Given the description of an element on the screen output the (x, y) to click on. 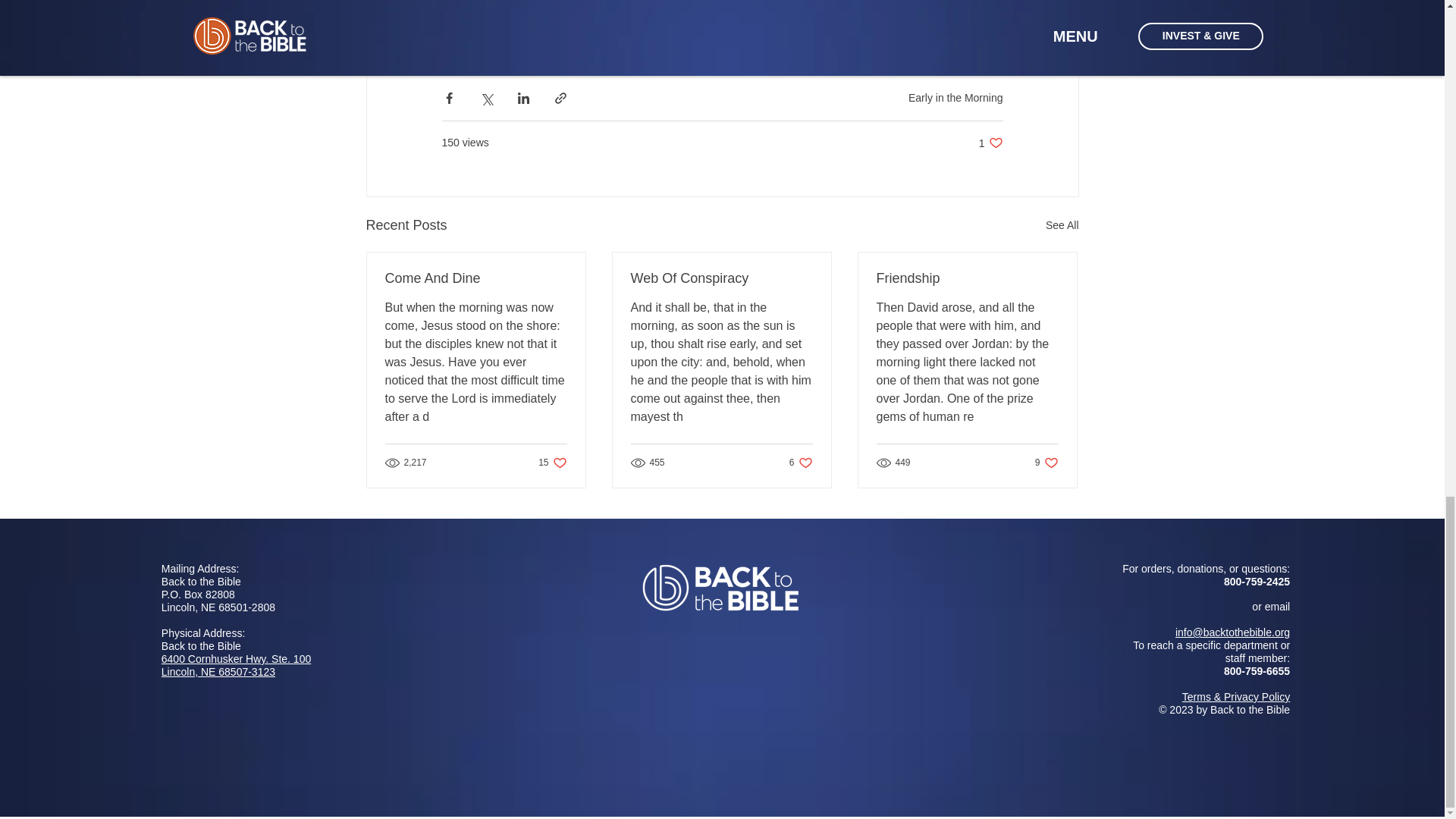
Come And Dine (1046, 462)
See All (552, 462)
Friendship (476, 278)
Web Of Conspiracy (1061, 225)
Early in the Morning (967, 278)
